Given the description of an element on the screen output the (x, y) to click on. 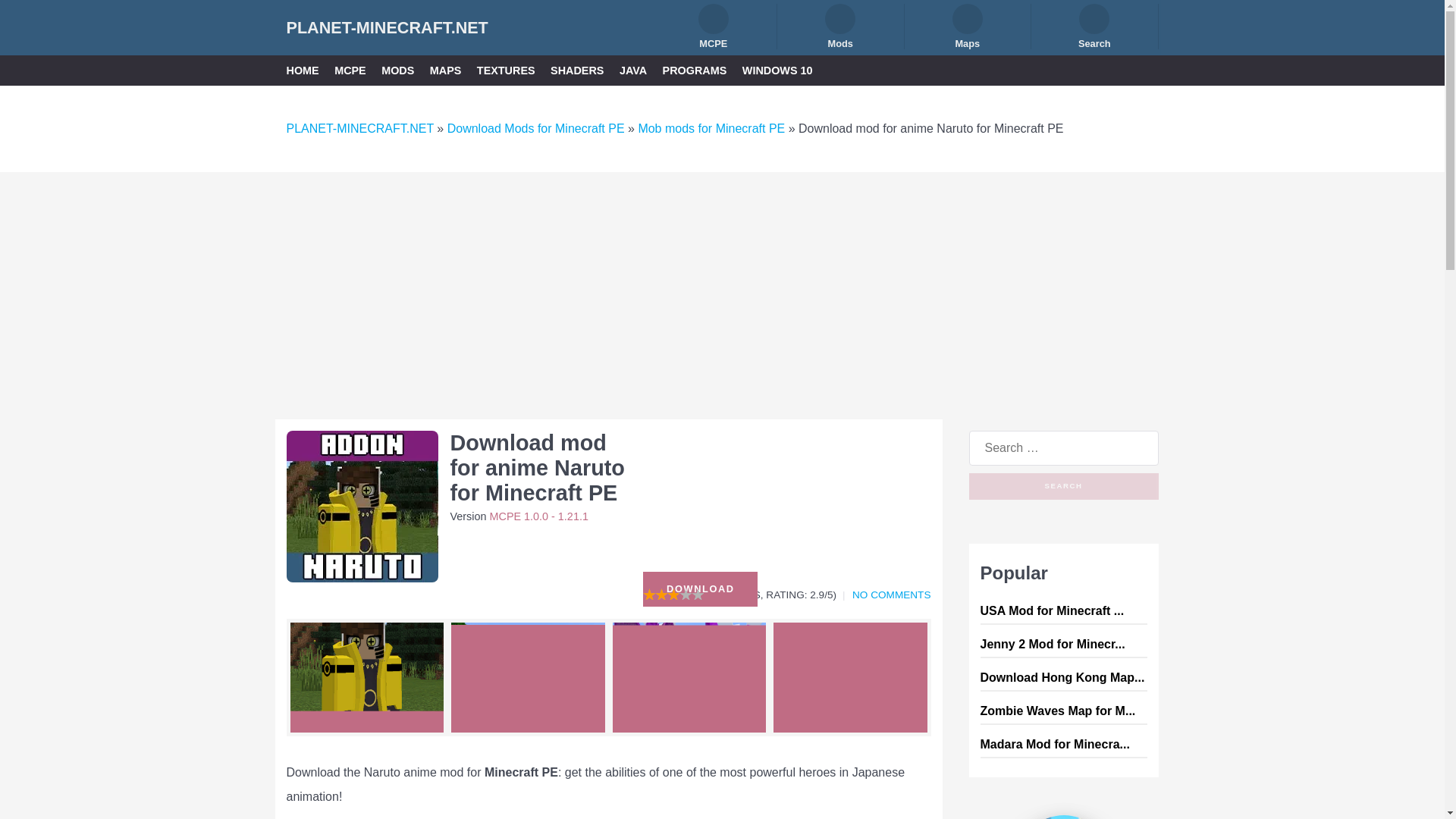
Search (1094, 26)
MODS (397, 70)
Mods (840, 26)
Search for: (1063, 448)
WINDOWS 10 (777, 70)
PROGRAMS (694, 70)
TEXTURES (506, 70)
Maps (967, 26)
SHADERS (577, 70)
Download Mods for Minecraft PE (535, 128)
